Given the description of an element on the screen output the (x, y) to click on. 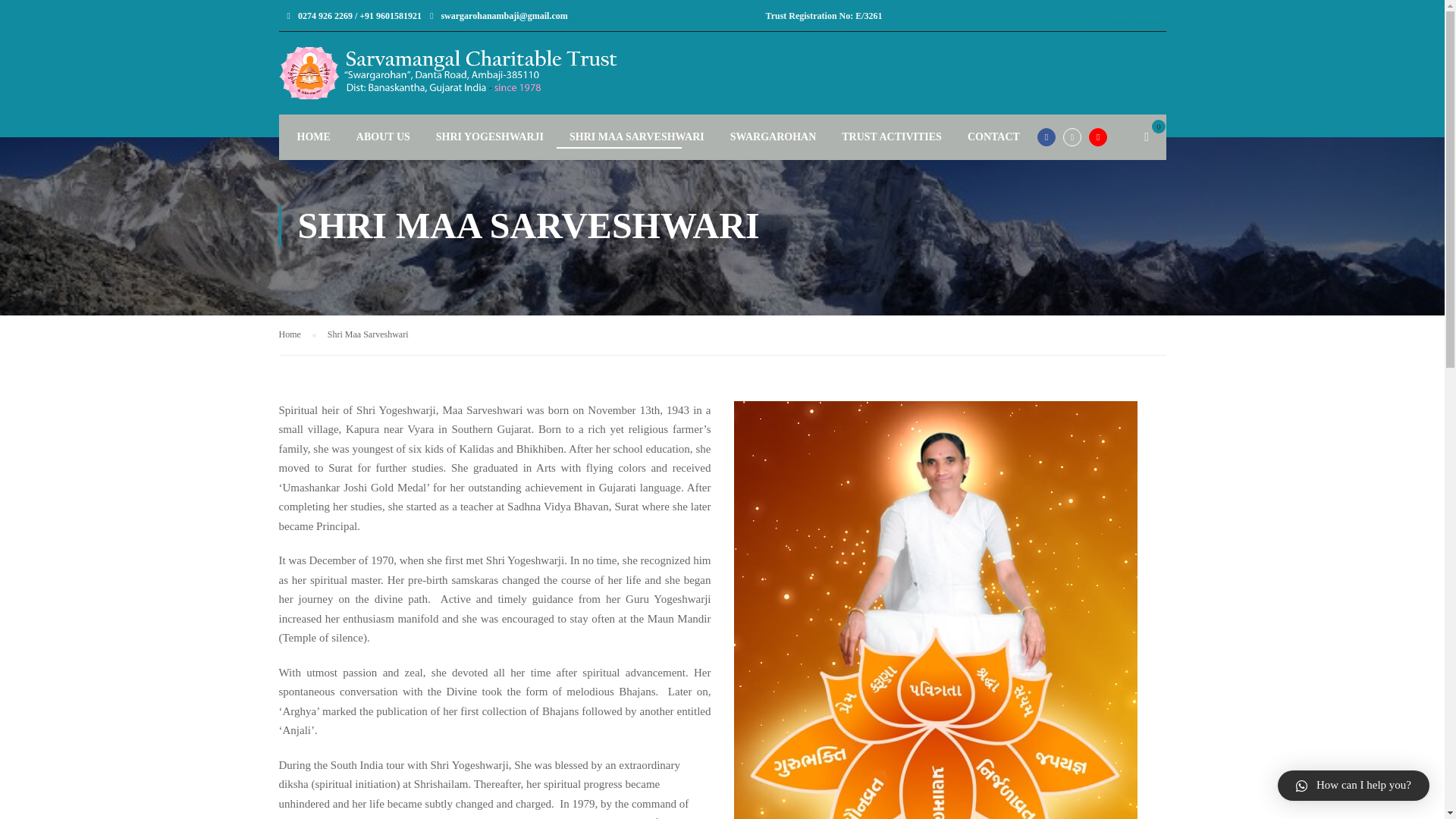
Home (297, 334)
How can I help you? (1353, 785)
Home (297, 334)
SHRI MAA SARVESHWARI (631, 134)
CONTACT (988, 134)
ABOUT US (377, 134)
TRUST ACTIVITIES (886, 134)
Online Donation (1133, 15)
HOME (308, 134)
SWARGAROHAN (767, 134)
Sarvamangal Charitable Trust - Sarvamangal (495, 72)
SHRI YOGESHWARJI (484, 134)
Shri Maa Sarveshwari (368, 334)
